Given the description of an element on the screen output the (x, y) to click on. 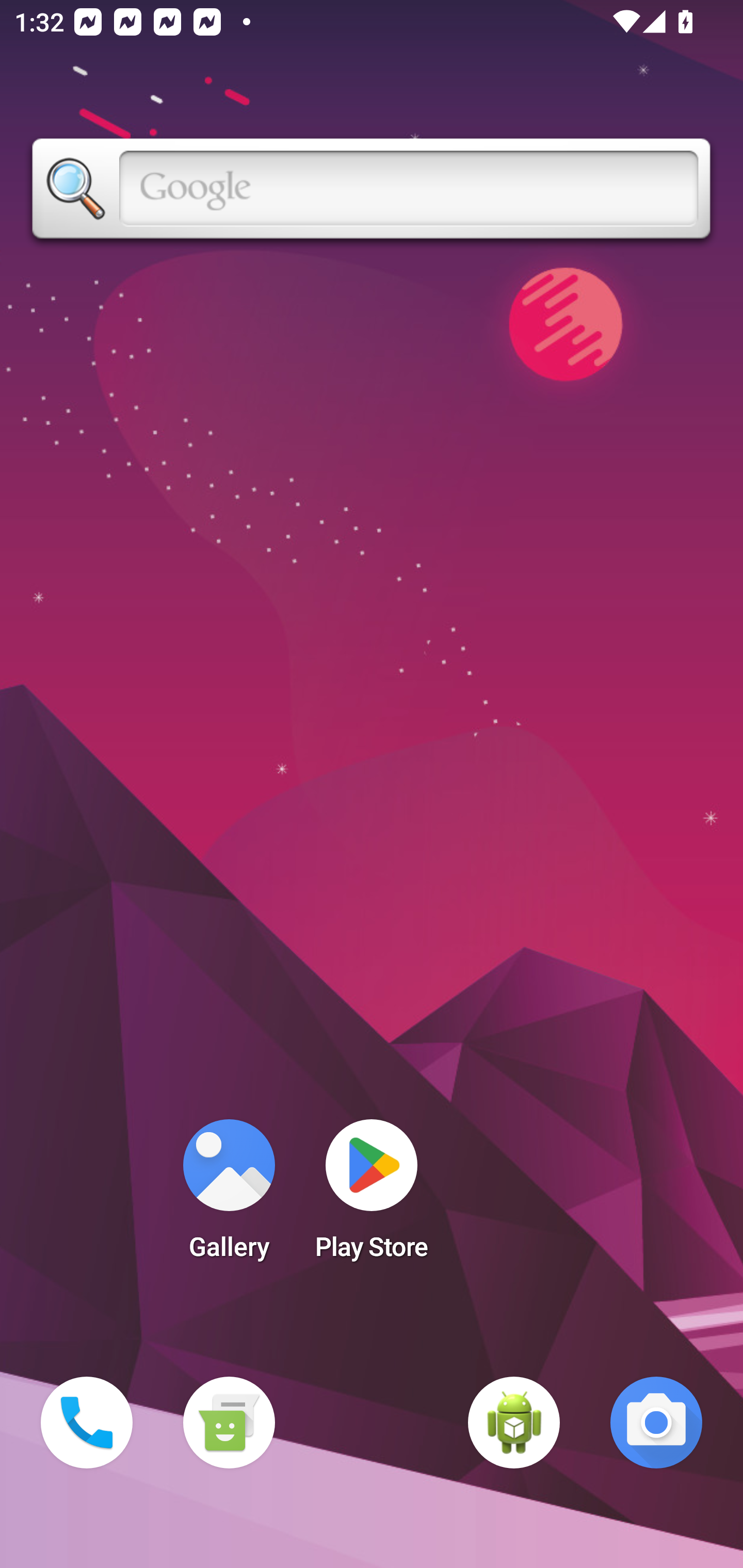
Gallery (228, 1195)
Play Store (371, 1195)
Phone (86, 1422)
Messaging (228, 1422)
WebView Browser Tester (513, 1422)
Camera (656, 1422)
